Given the description of an element on the screen output the (x, y) to click on. 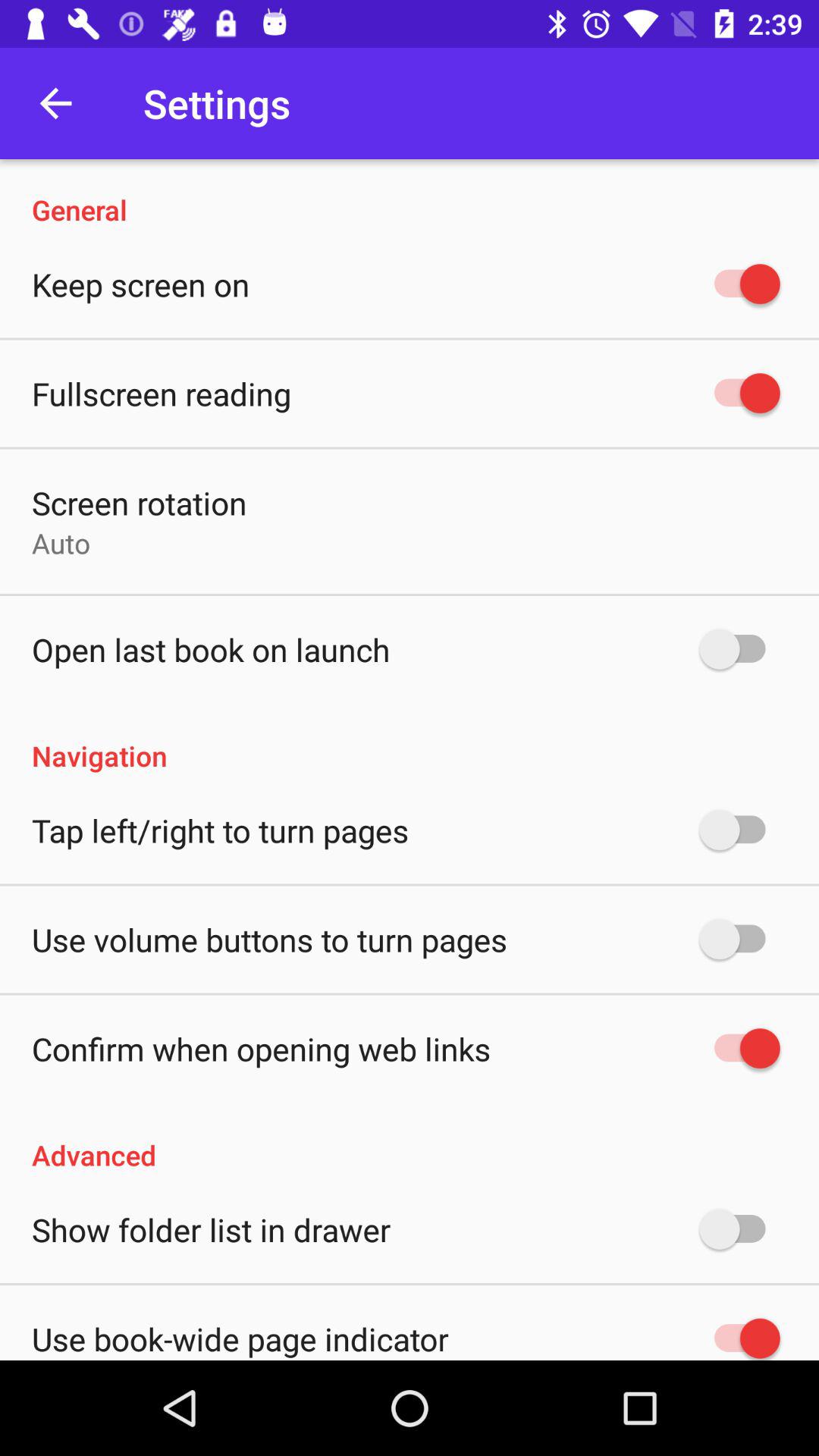
choose the icon above the advanced icon (260, 1048)
